Given the description of an element on the screen output the (x, y) to click on. 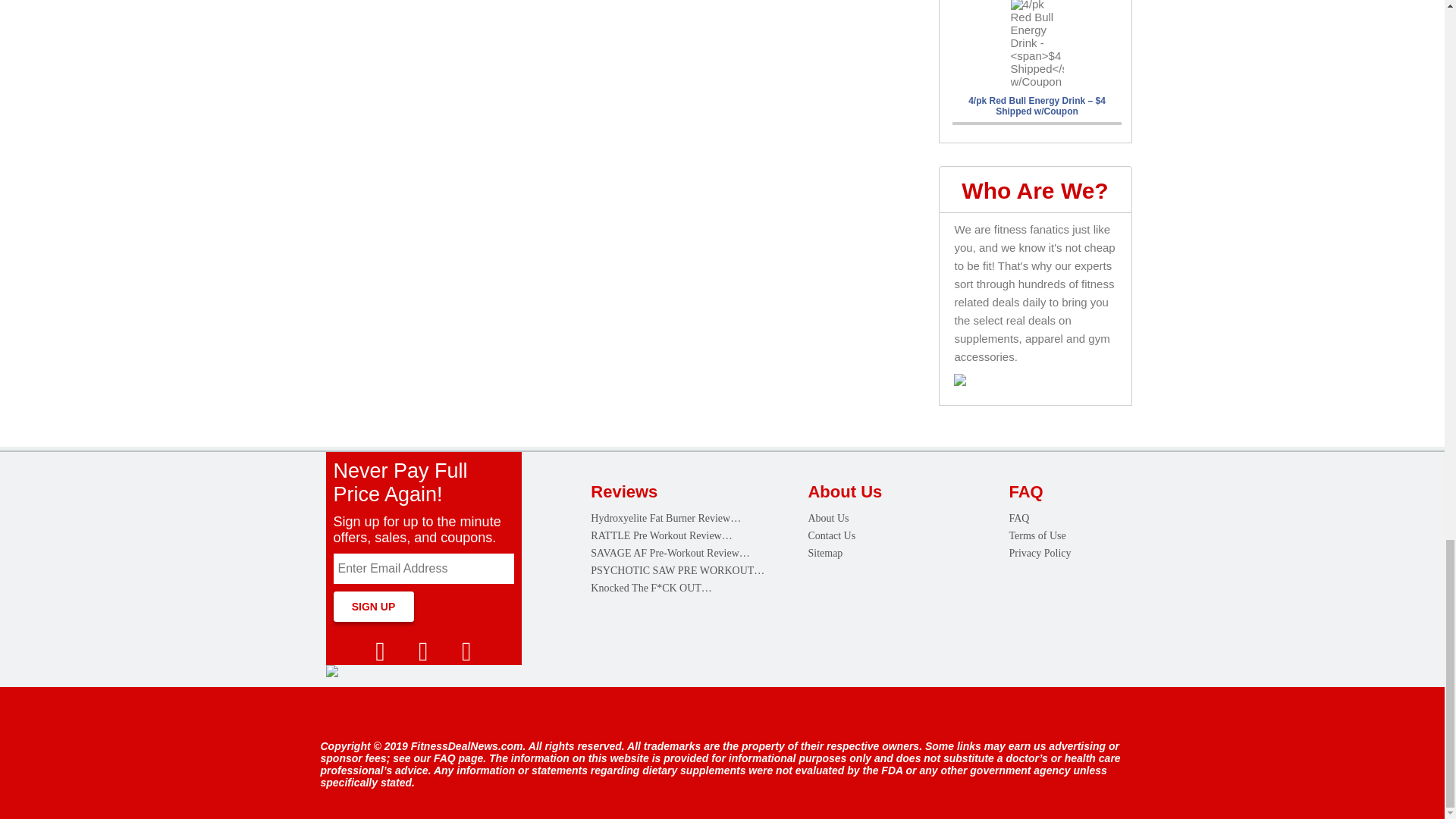
SIGN UP (373, 605)
